Given the description of an element on the screen output the (x, y) to click on. 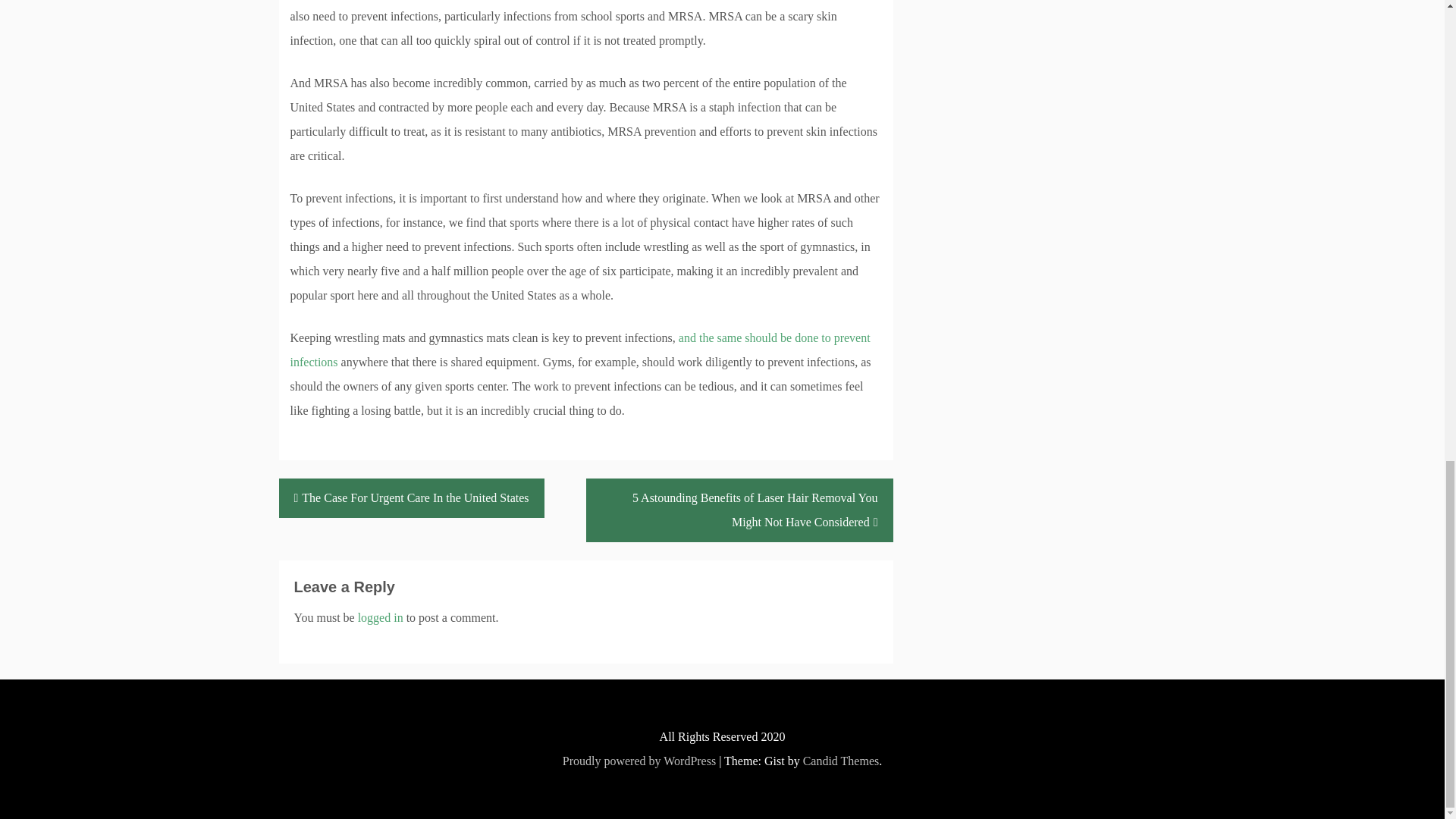
and the same should be done to prevent infections (579, 349)
The Case For Urgent Care In the United States (411, 497)
Find more info regarding Prevent infections (579, 349)
logged in (380, 617)
Proudly powered by WordPress (639, 760)
Candid Themes (841, 760)
